Given the description of an element on the screen output the (x, y) to click on. 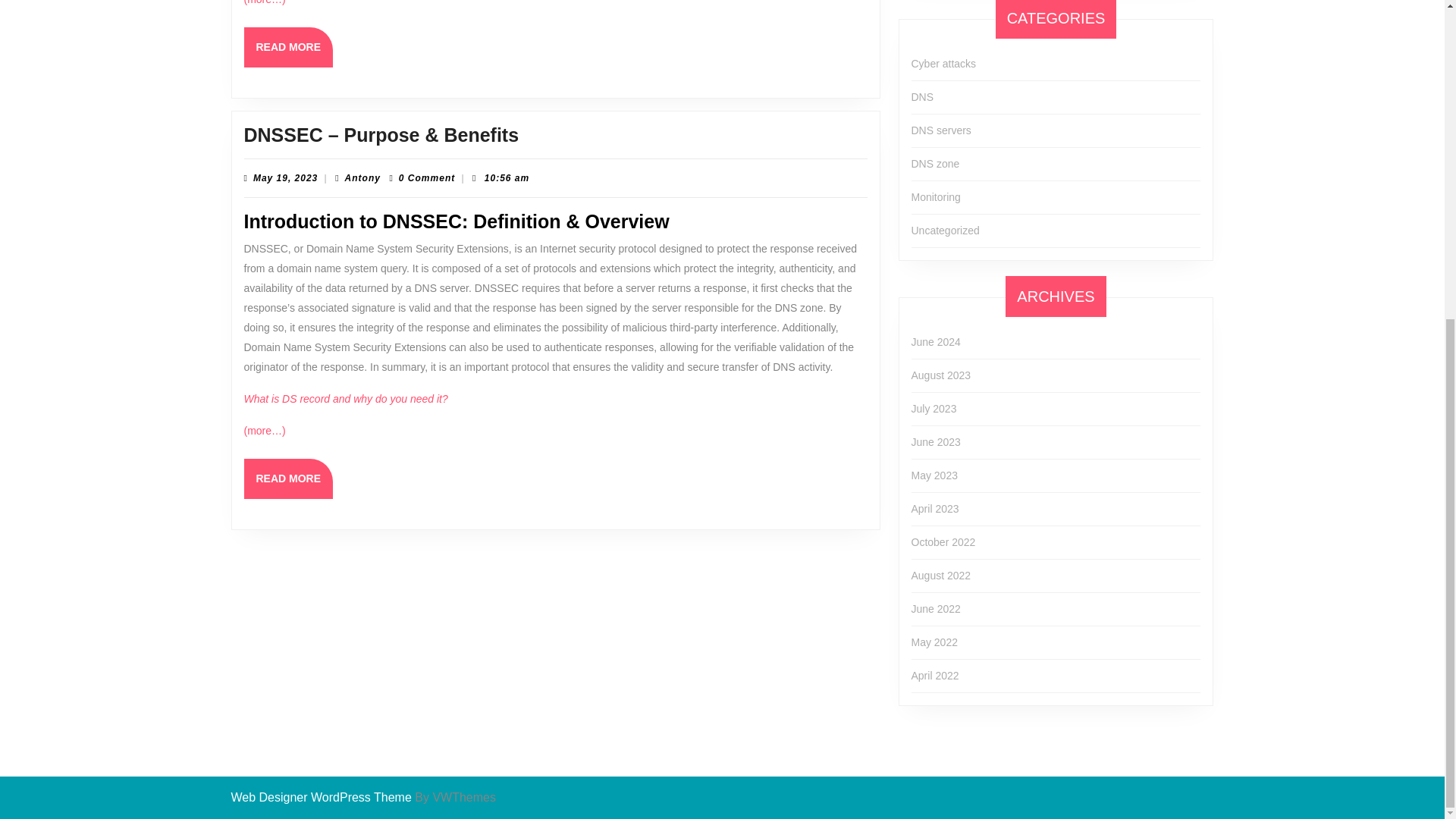
June 2024 (935, 341)
August 2023 (941, 375)
What is DS record and why do you need it? (494, 363)
August 2022 (941, 575)
Monitoring (425, 417)
April 2023 (935, 196)
June 2022 (935, 508)
July 2023 (935, 608)
Cyber attacks (933, 408)
DNS (442, 254)
Uncategorized (943, 63)
May 2022 (922, 96)
June 2023 (945, 230)
